Given the description of an element on the screen output the (x, y) to click on. 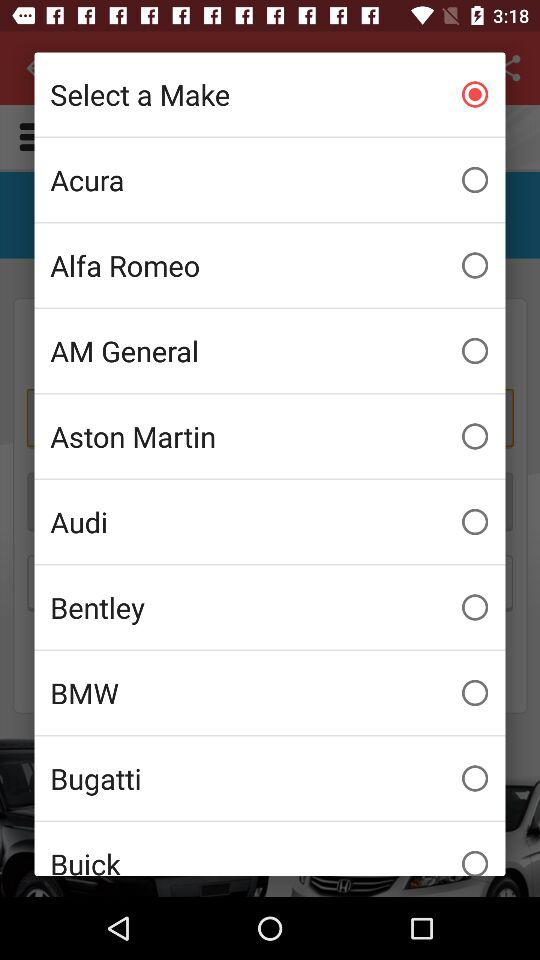
press audi (269, 521)
